Given the description of an element on the screen output the (x, y) to click on. 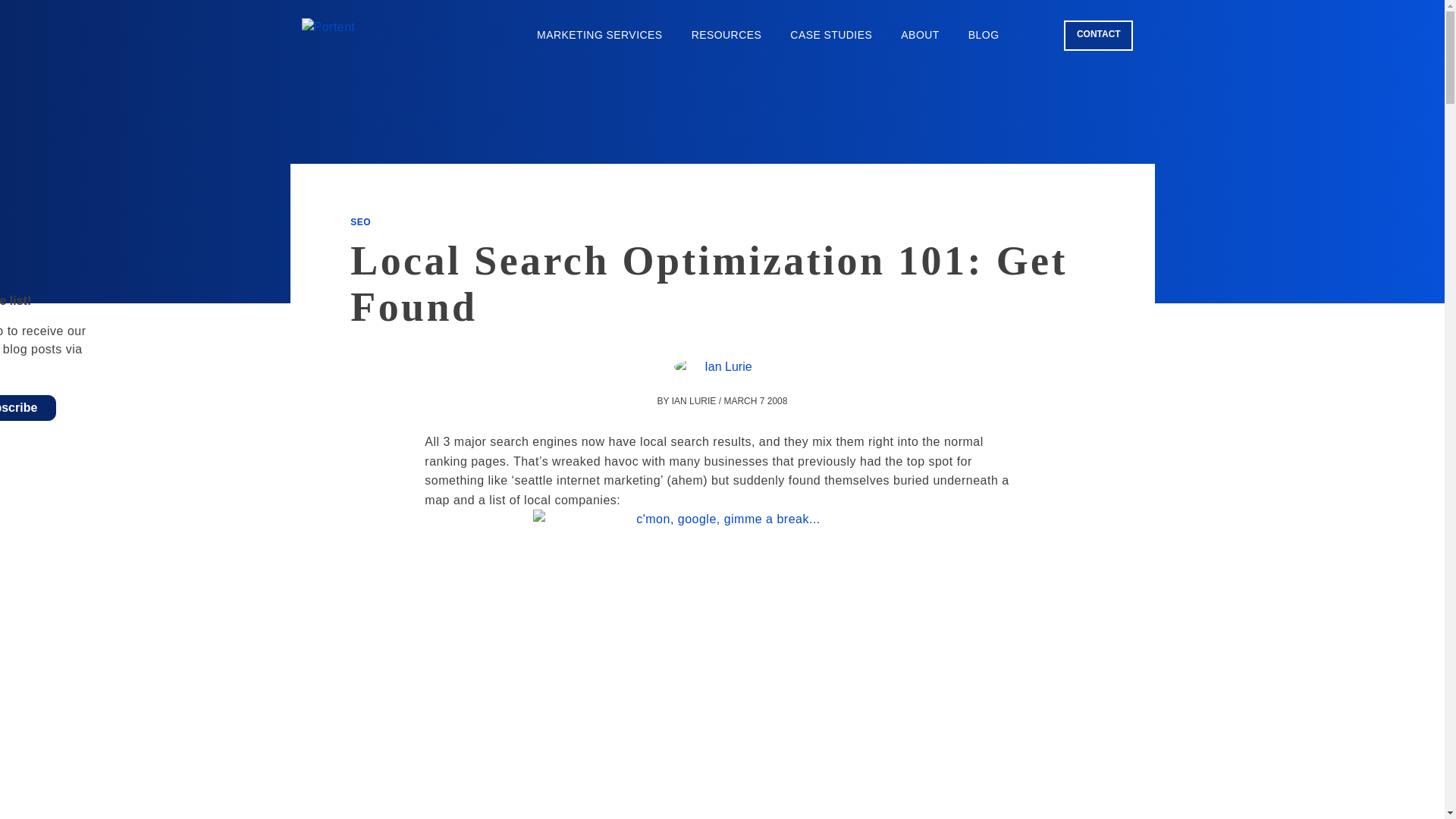
CONTACT (1098, 34)
BLOG (983, 35)
SEO (360, 222)
ABOUT (920, 35)
MARKETING SERVICES (599, 35)
RESOURCES (726, 35)
IAN LURIE (693, 400)
Search (1036, 34)
CASE STUDIES (831, 35)
